Given the description of an element on the screen output the (x, y) to click on. 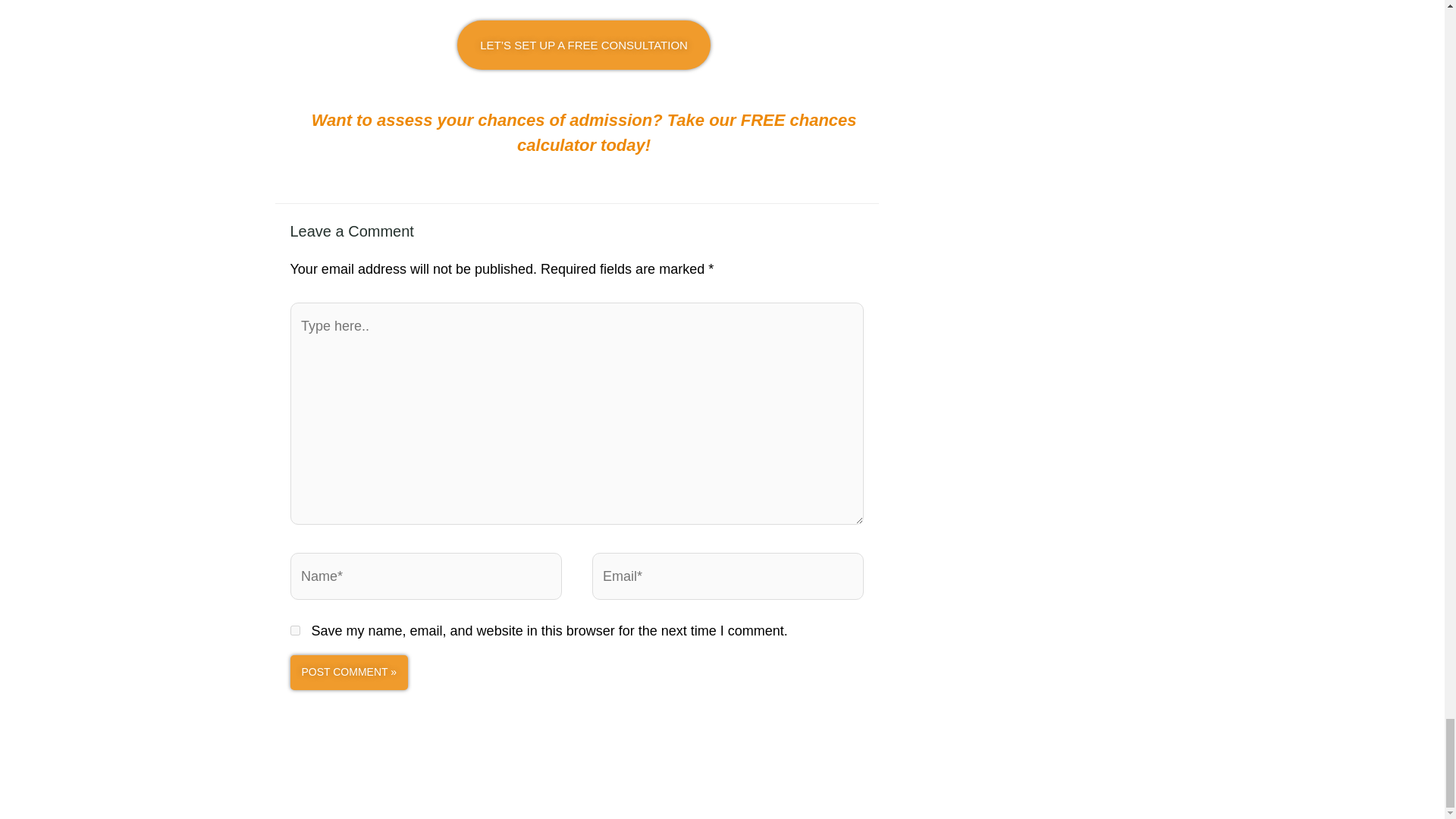
yes (294, 630)
